Given the description of an element on the screen output the (x, y) to click on. 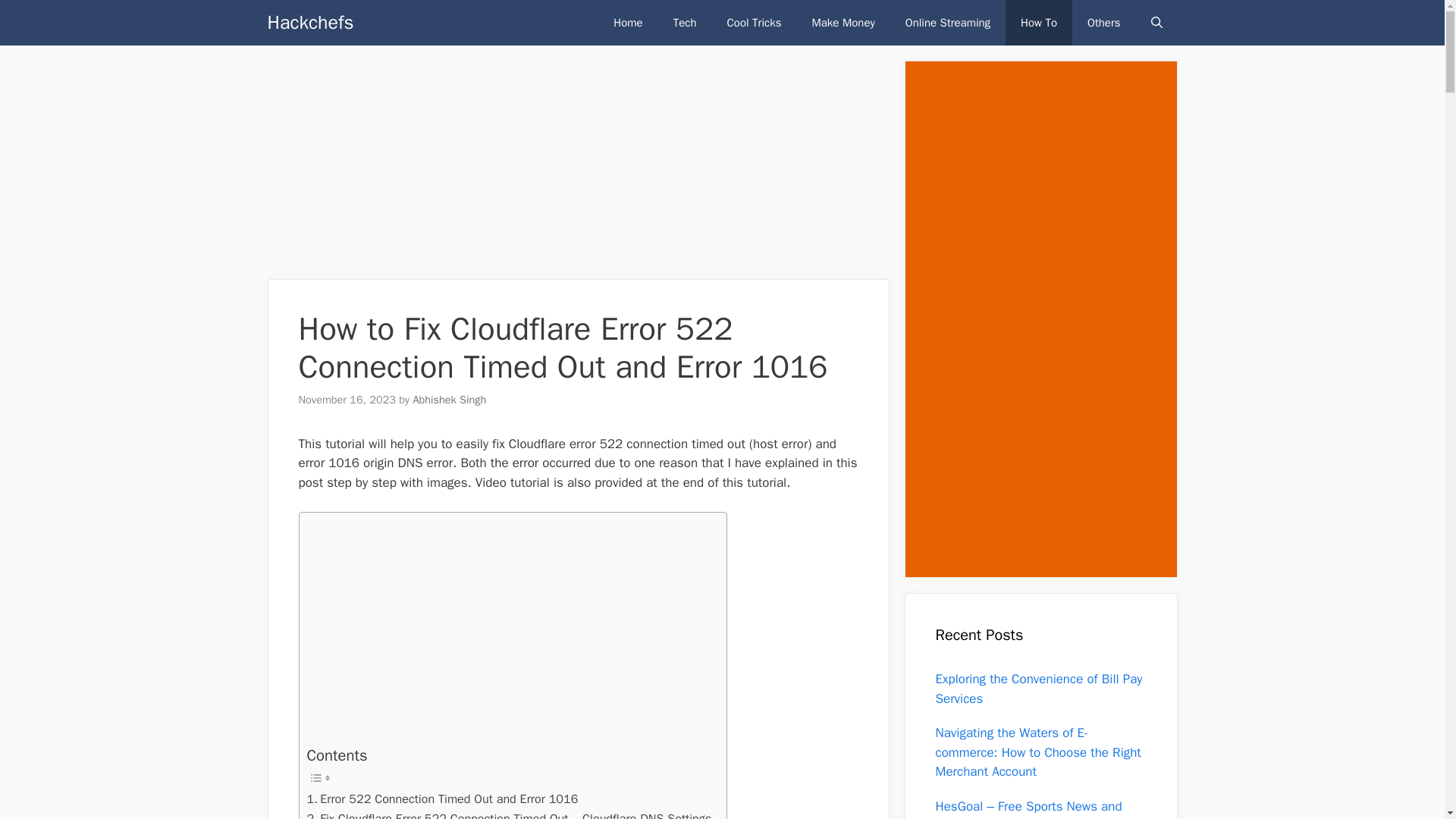
Advertisement (577, 166)
How To (1038, 22)
Online Streaming (947, 22)
Error 522 Connection Timed Out and Error 1016 (441, 799)
View all posts by Abhishek Singh (449, 399)
Others (1103, 22)
Home (628, 22)
Hackchefs (309, 22)
Cool Tricks (753, 22)
Abhishek Singh (449, 399)
